Given the description of an element on the screen output the (x, y) to click on. 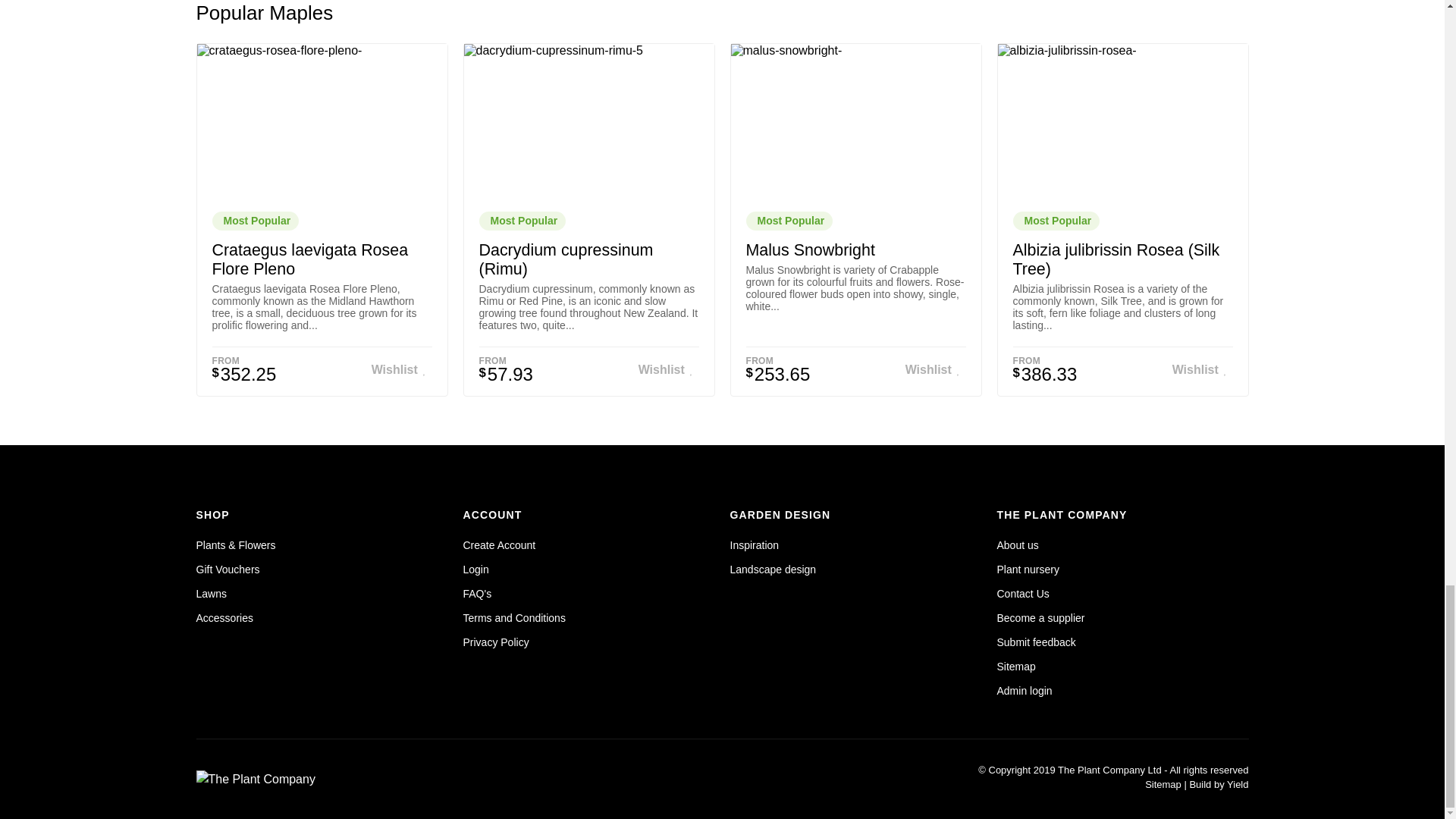
Gift Vouchers (227, 569)
Lawns (210, 593)
Crataegus laevigata Rosea Flore Pleno (310, 259)
Wishlist (401, 370)
